Given the description of an element on the screen output the (x, y) to click on. 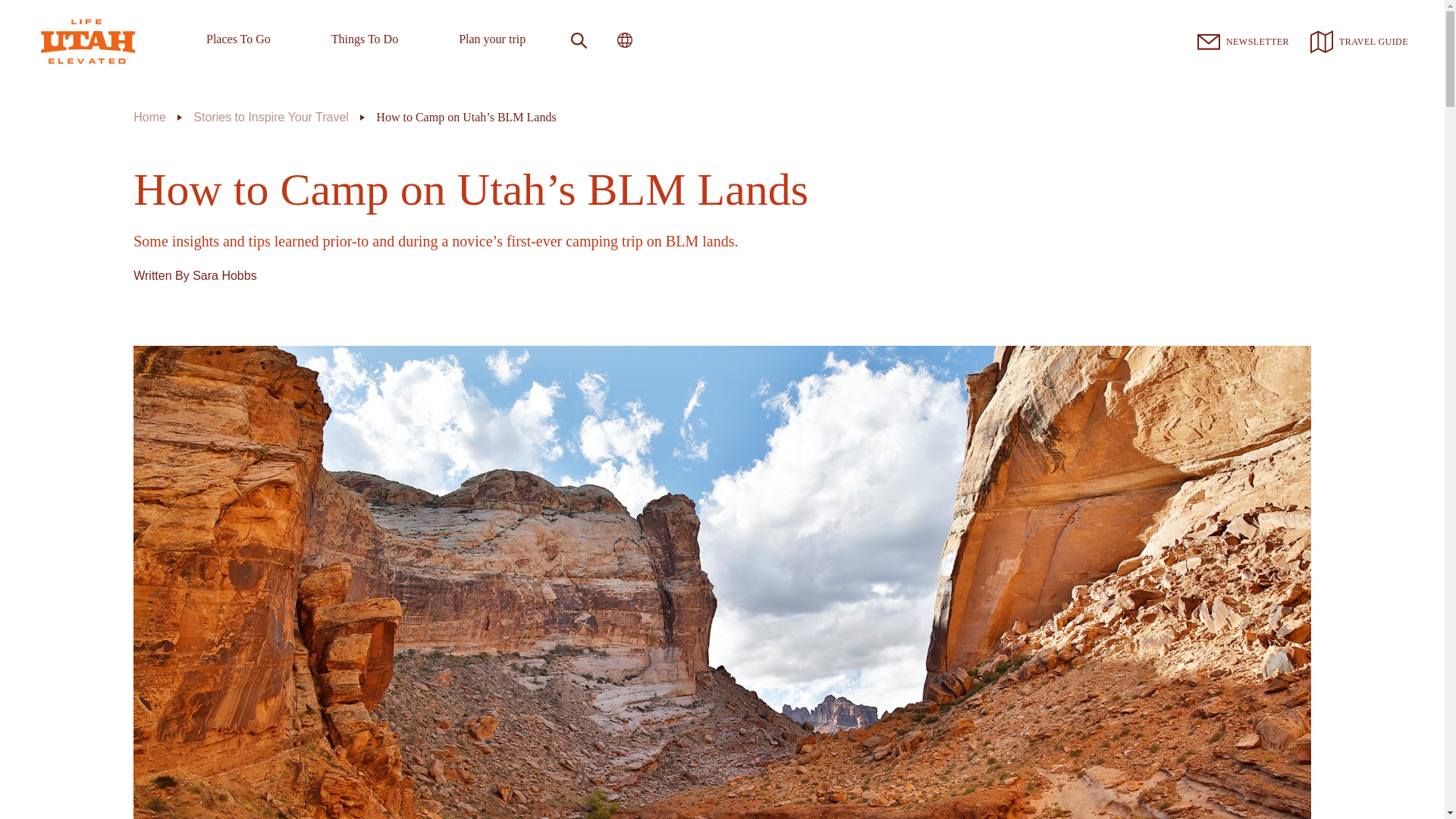
Places To Go (238, 41)
Things To Do (364, 41)
